Given the description of an element on the screen output the (x, y) to click on. 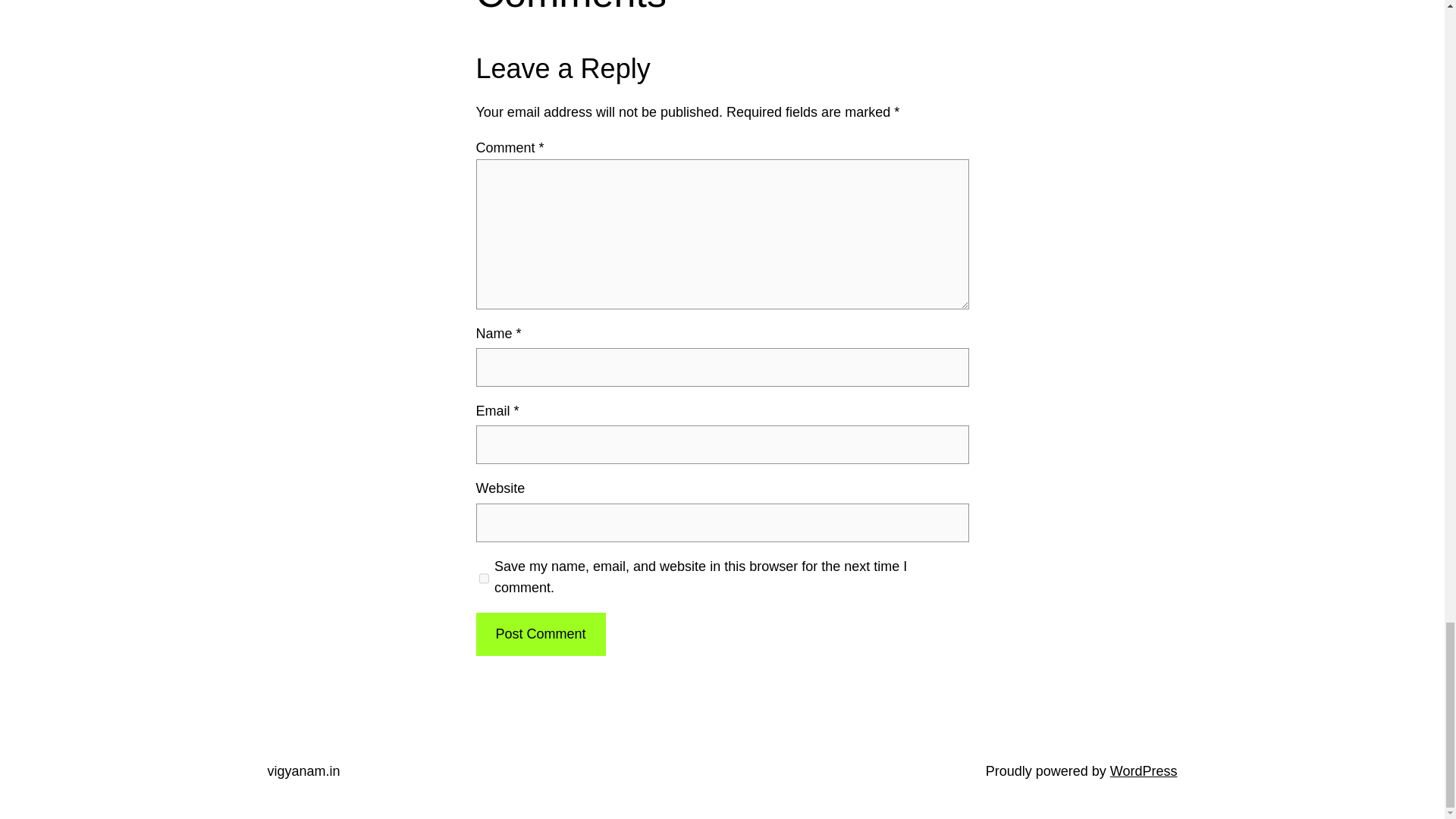
WordPress (1143, 770)
Post Comment (540, 634)
vigyanam.in (302, 770)
Post Comment (540, 634)
